Given the description of an element on the screen output the (x, y) to click on. 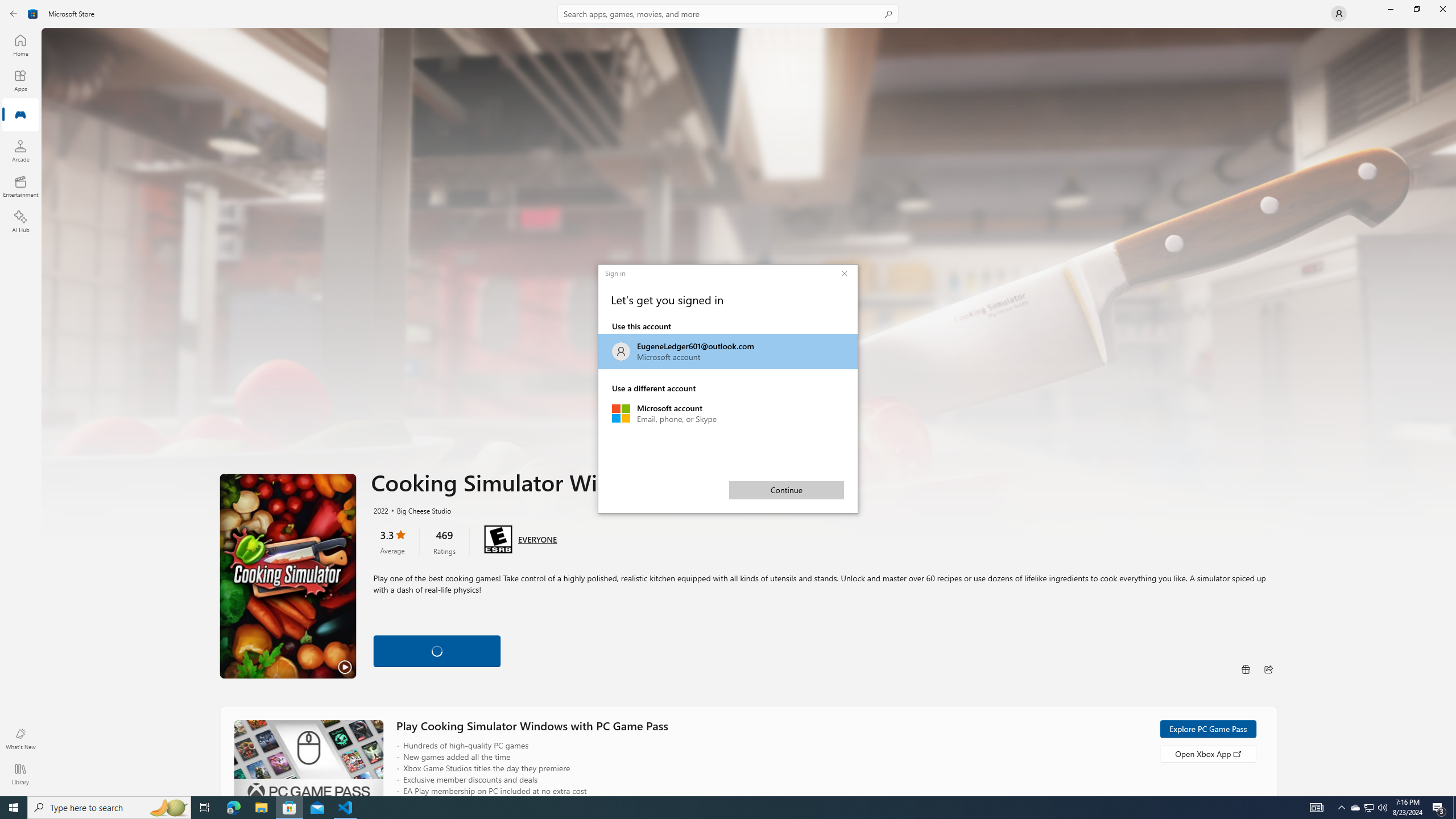
Vertical Small Decrease (727, 412)
AutomationID: 4105 (1452, 31)
Entertainment (1316, 807)
Home (20, 185)
Buy (20, 45)
Gaming (568, 649)
Vertical (20, 115)
Explore PC Game Pass (1452, 412)
Library (1207, 728)
Minimize Microsoft Store (20, 773)
Type here to search (1390, 9)
3.3 stars. Click to skip to ratings and reviews (108, 807)
Back (392, 541)
